Given the description of an element on the screen output the (x, y) to click on. 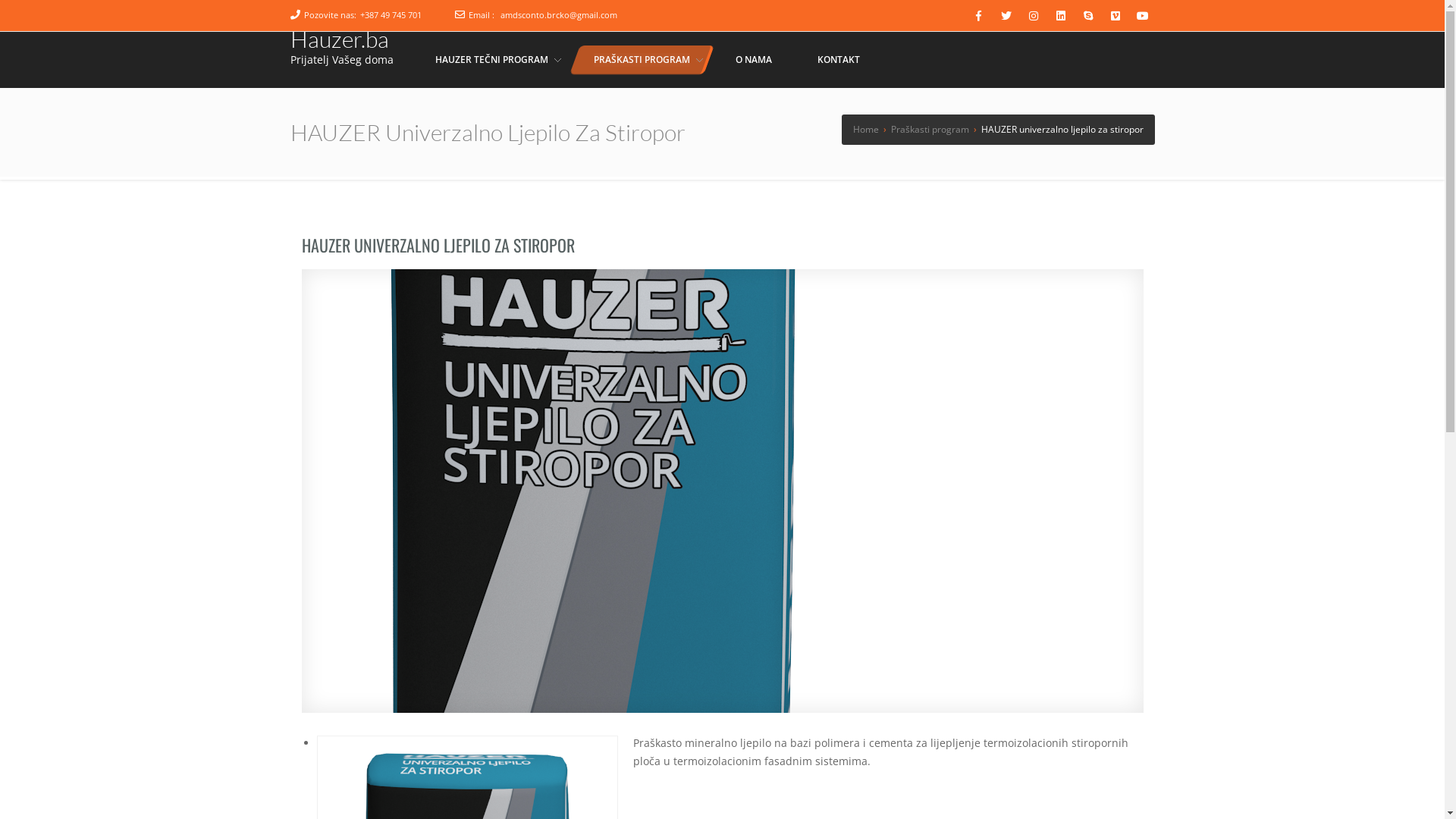
Hauzer.ba Element type: text (338, 38)
O NAMA Element type: text (752, 59)
amdsconto.brcko@gmail.com Element type: text (558, 14)
+387 49 745 701 Element type: text (389, 14)
HAUZER UNIVERZALNO LJEPILO ZA STIROPOR Element type: text (437, 244)
HAUZER univerzalno ljepilo za stiropor Element type: hover (722, 490)
KONTAKT Element type: text (837, 59)
Home Element type: text (859, 128)
